Given the description of an element on the screen output the (x, y) to click on. 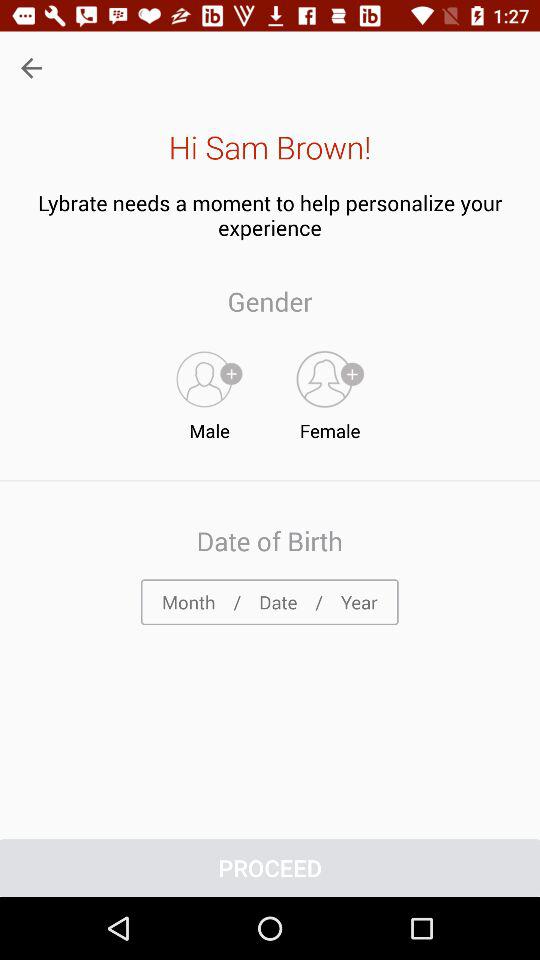
open item next to the female icon (209, 391)
